Given the description of an element on the screen output the (x, y) to click on. 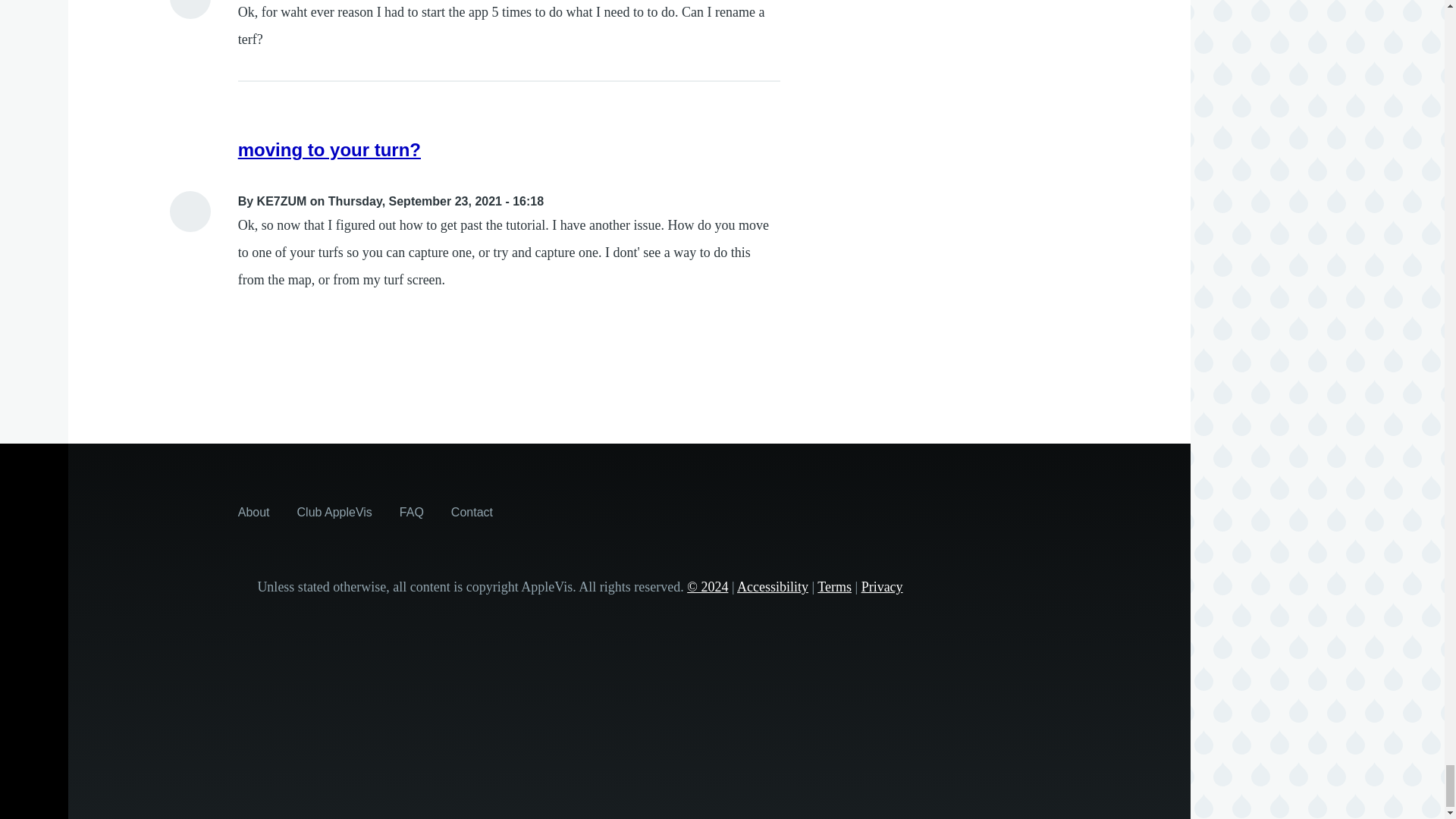
Answers to some frequently asked questions about AppleVis (410, 511)
About (253, 511)
